Given the description of an element on the screen output the (x, y) to click on. 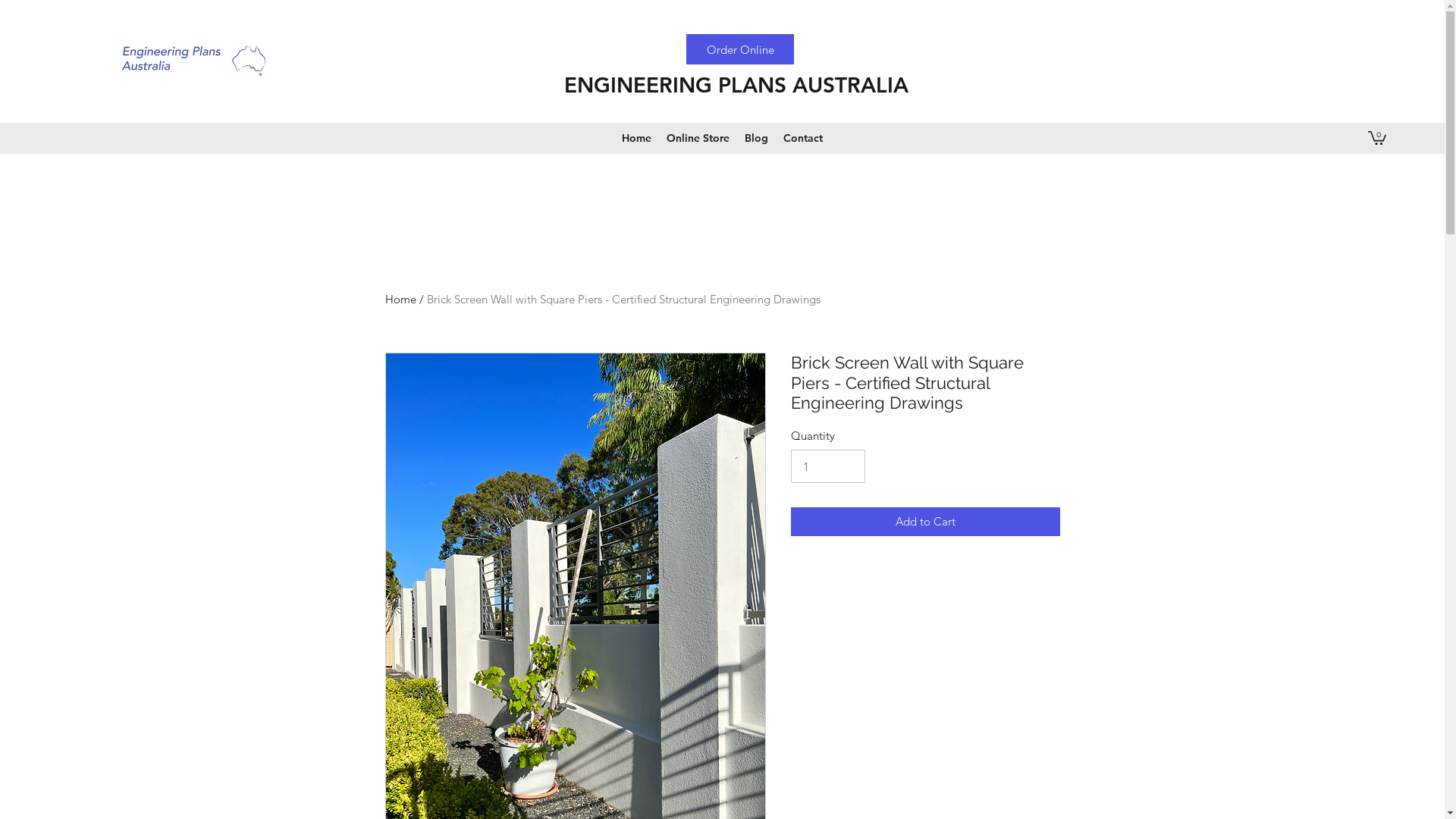
Order Online Element type: text (739, 49)
ENGINEERING PLANS AUSTRALIA Element type: text (736, 84)
Online Store Element type: text (697, 138)
Home Element type: text (400, 298)
Contact Element type: text (802, 138)
0 Element type: text (1377, 136)
Add to Cart Element type: text (924, 521)
Blog Element type: text (756, 138)
Home Element type: text (636, 138)
